Given the description of an element on the screen output the (x, y) to click on. 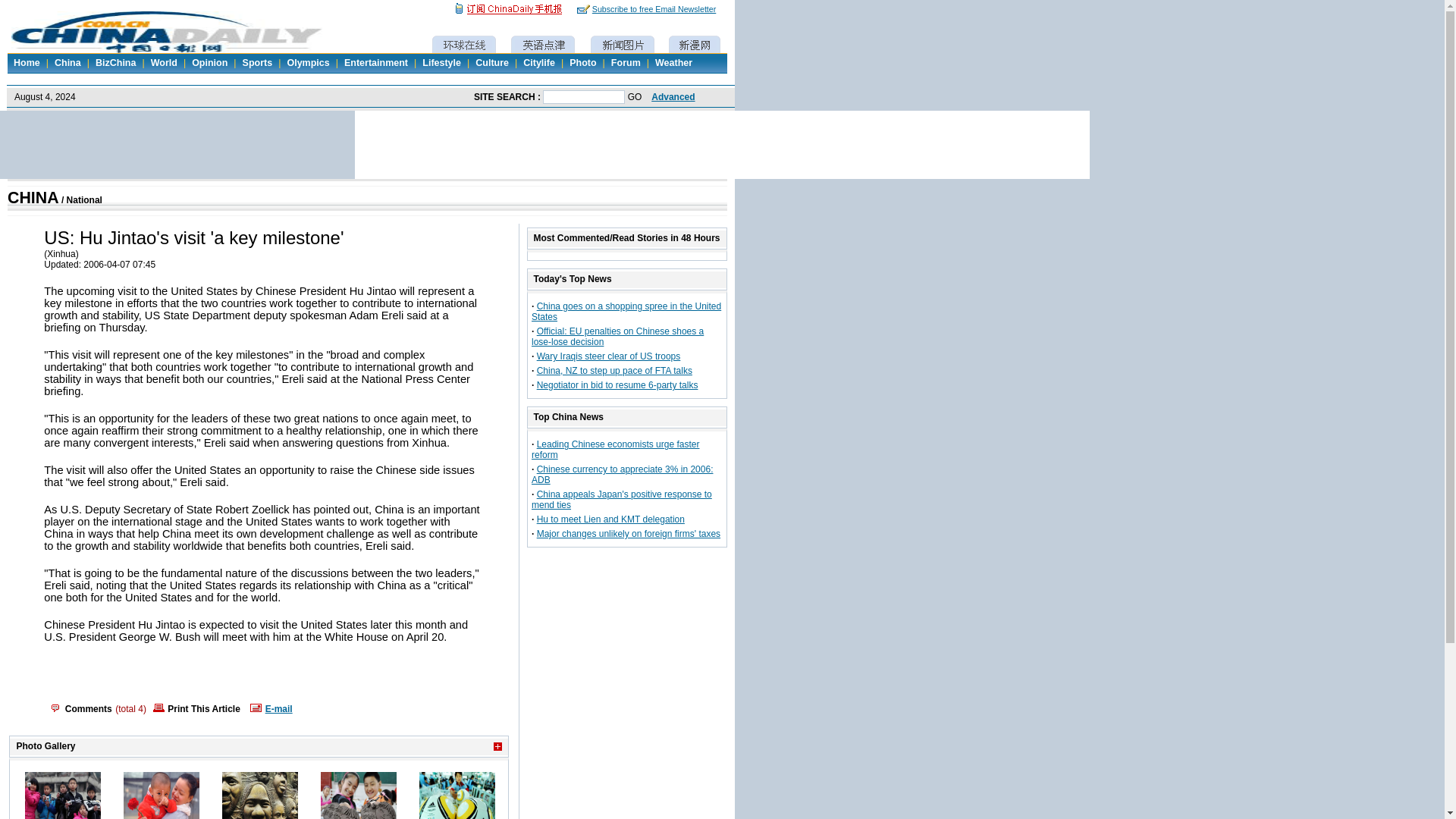
Negotiator in bid to resume 6-party talks (617, 385)
Opinion (209, 62)
China (67, 62)
Wary Iraqis steer clear of US troops (609, 356)
Hu to meet Lien and KMT delegation (610, 519)
Culture (491, 62)
China, NZ to step up pace of FTA talks (615, 370)
Leading Chinese economists urge faster reform (614, 449)
Comments (88, 708)
Lifestyle (441, 62)
Olympics (307, 62)
Citylife (538, 62)
Official: EU penalties on Chinese shoes a lose-lose decision (617, 336)
China appeals Japan's positive response to mend ties (621, 499)
Major changes unlikely on foreign firms' taxes (628, 533)
